Given the description of an element on the screen output the (x, y) to click on. 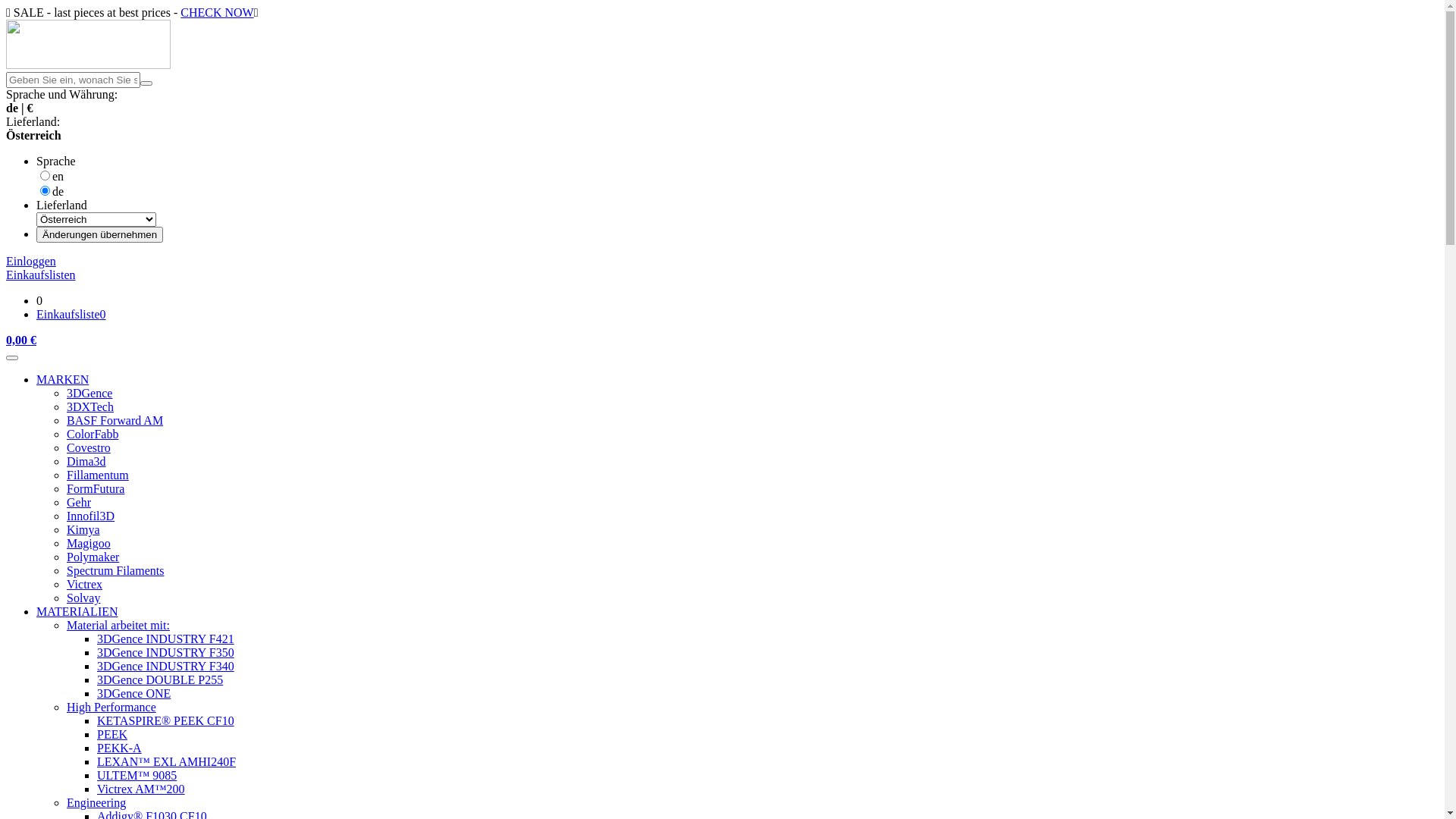
Engineering Element type: text (95, 802)
Solvay Element type: text (83, 597)
BASF Forward AM Element type: text (114, 420)
ColorFabb Element type: text (92, 433)
PEEK Element type: text (112, 734)
MARKEN Element type: text (62, 379)
3DGence Element type: text (89, 392)
Polymaker Element type: text (92, 556)
3DGence DOUBLE P255 Element type: text (159, 679)
Magigoo Element type: text (88, 542)
3DGence ONE Element type: text (133, 693)
CHECK NOW Element type: text (216, 12)
3DXTech Element type: text (89, 406)
Einkaufsliste0 Element type: text (71, 313)
Dima3d Element type: text (86, 461)
Fillamentum Element type: text (97, 474)
Material arbeitet mit: Element type: text (117, 624)
Spectrum Filaments Element type: text (114, 570)
Einloggen Element type: text (31, 260)
3DGence INDUSTRY F340 Element type: text (165, 665)
PEKK-A Element type: text (119, 747)
Kimya Element type: text (83, 529)
MATERIALIEN Element type: text (77, 611)
Gehr Element type: text (78, 501)
Victrex Element type: text (84, 583)
FormFutura Element type: text (95, 488)
Innofil3D Element type: text (90, 515)
0 Element type: text (39, 300)
Einkaufslisten Element type: text (40, 274)
Covestro Element type: text (88, 447)
3DGence INDUSTRY F350 Element type: text (165, 652)
3DGence INDUSTRY F421 Element type: text (165, 638)
High Performance Element type: text (111, 706)
